Given the description of an element on the screen output the (x, y) to click on. 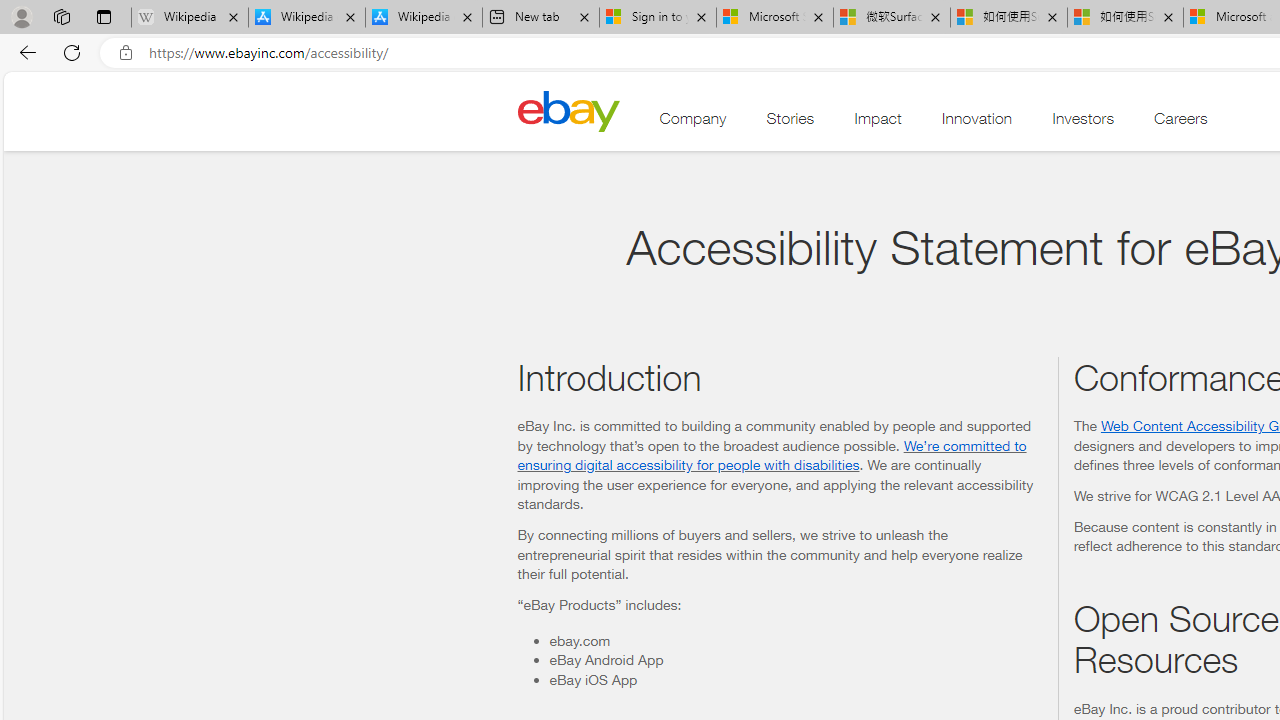
Home (568, 110)
Impact (877, 123)
Innovation (976, 123)
Careers (1181, 123)
Wikipedia - Sleeping (189, 17)
Investors (1083, 123)
Stories (790, 123)
Innovation (976, 123)
Sign in to your Microsoft account (657, 17)
Microsoft Services Agreement (774, 17)
Careers (1181, 123)
